Given the description of an element on the screen output the (x, y) to click on. 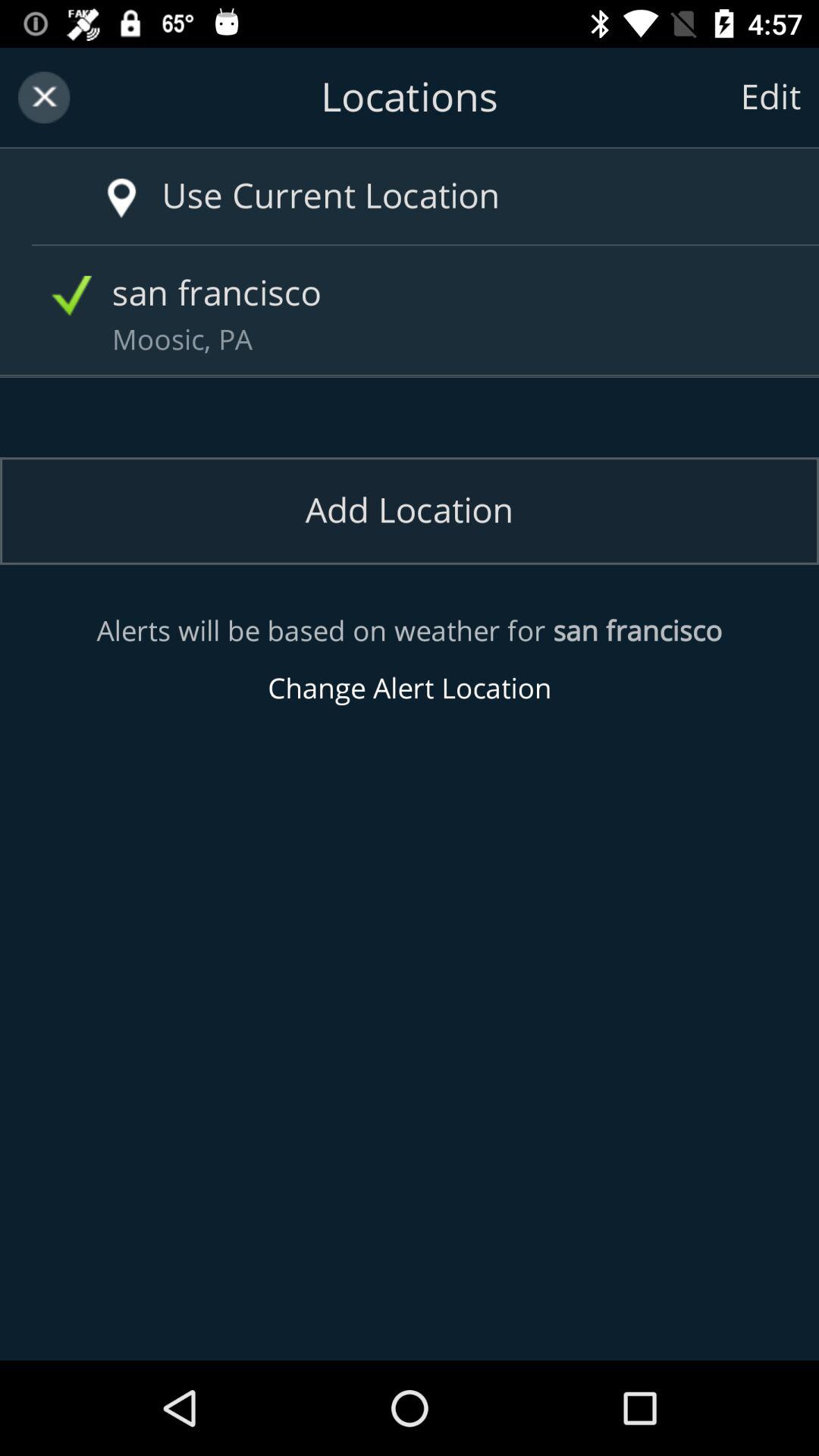
view locations (409, 97)
